Given the description of an element on the screen output the (x, y) to click on. 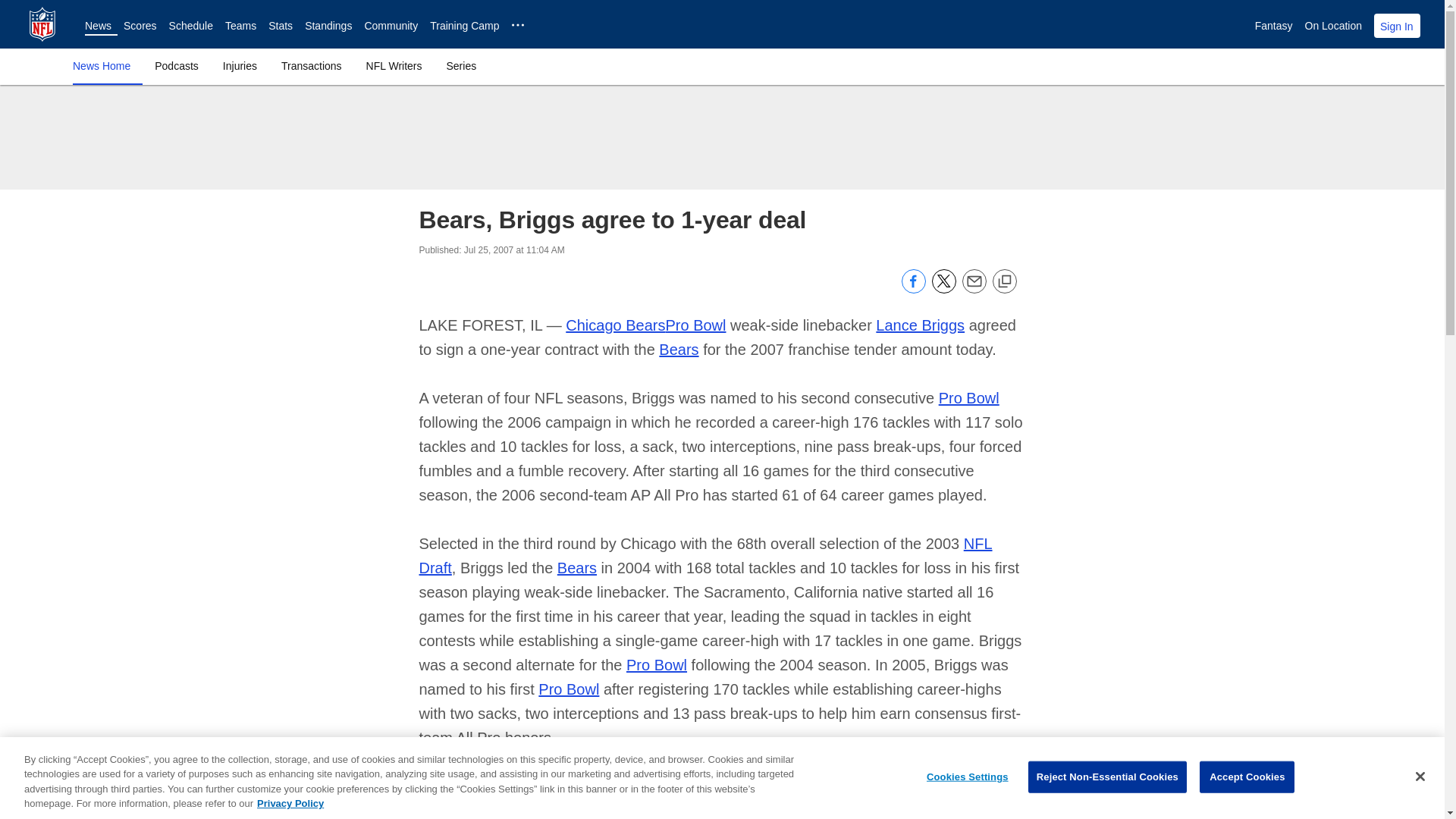
Teams (240, 25)
Schedule (190, 25)
Schedule (190, 25)
News (98, 25)
Stats (279, 25)
Scores (140, 25)
Scores (140, 25)
Teams (240, 25)
News (98, 25)
Link to NFL homepage (42, 23)
